Given the description of an element on the screen output the (x, y) to click on. 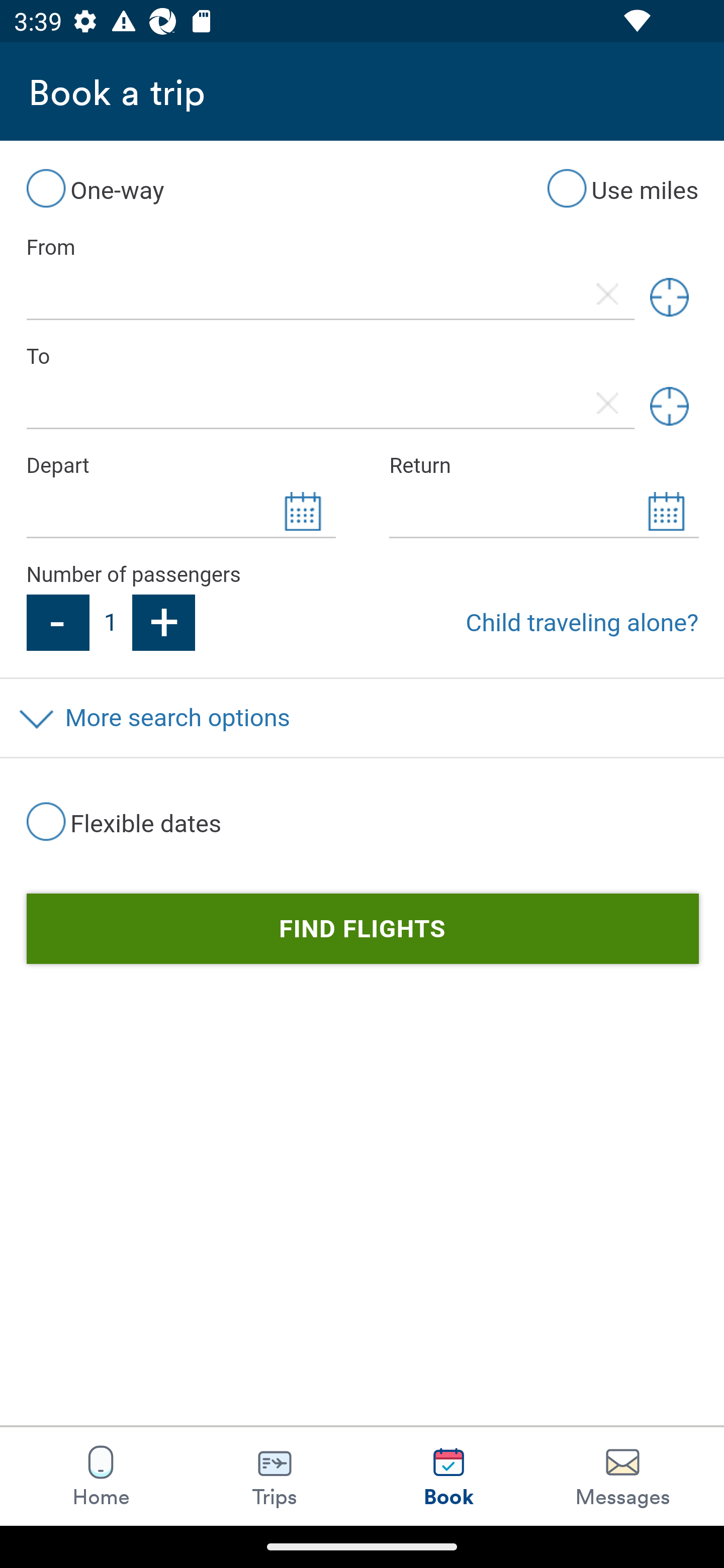
One-way (94, 187)
Use miles (622, 187)
Geolocation (669, 297)
Geolocation (669, 405)
Depart (179, 465)
Return (544, 465)
- (56, 622)
+ (163, 622)
Child traveling alone? (582, 622)
More search options (362, 717)
Find Flights (362, 929)
Home (100, 1475)
Trips (275, 1475)
Book (448, 1475)
Messages (622, 1475)
